Given the description of an element on the screen output the (x, y) to click on. 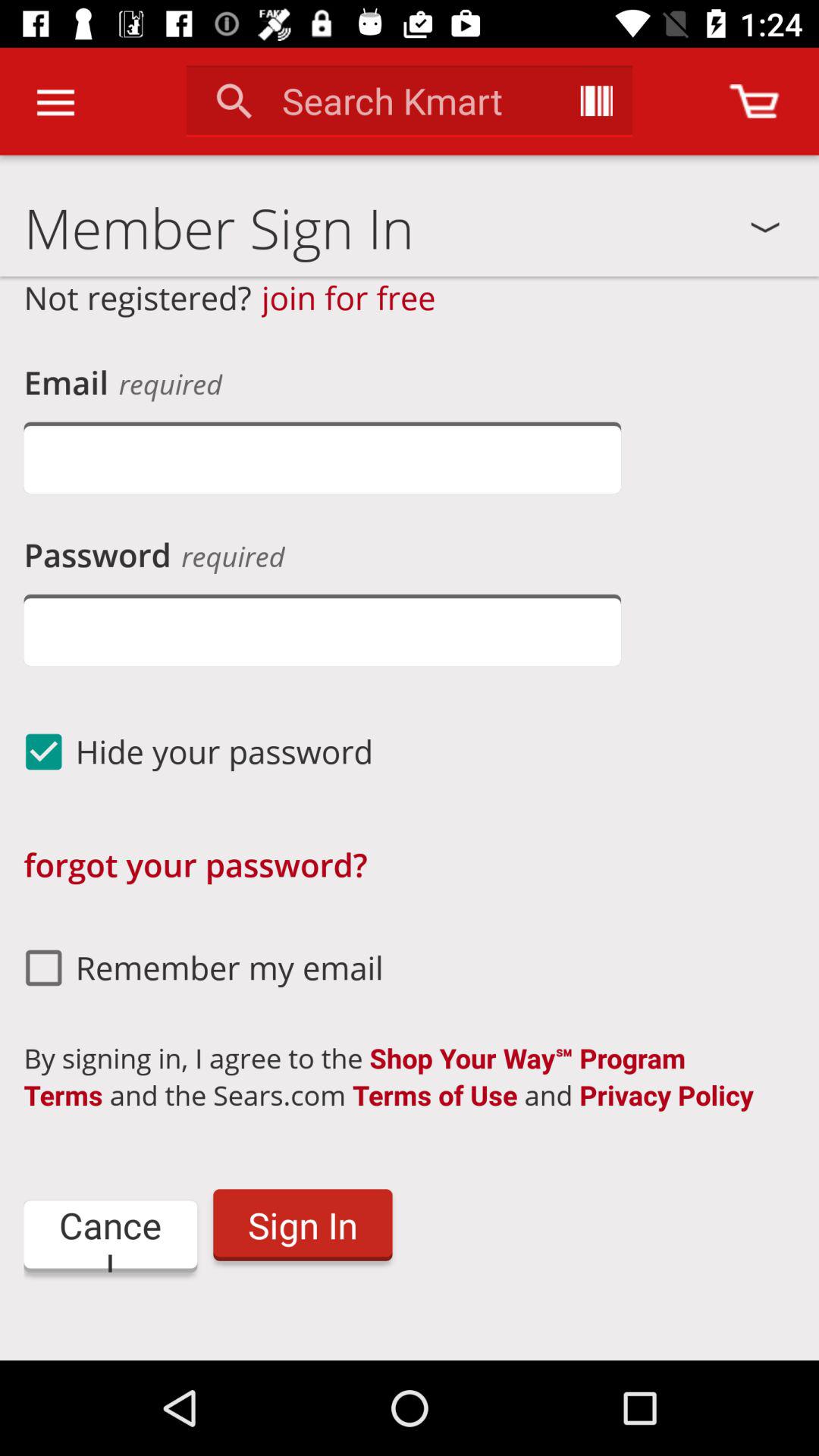
go to shopping cart (754, 101)
